Given the description of an element on the screen output the (x, y) to click on. 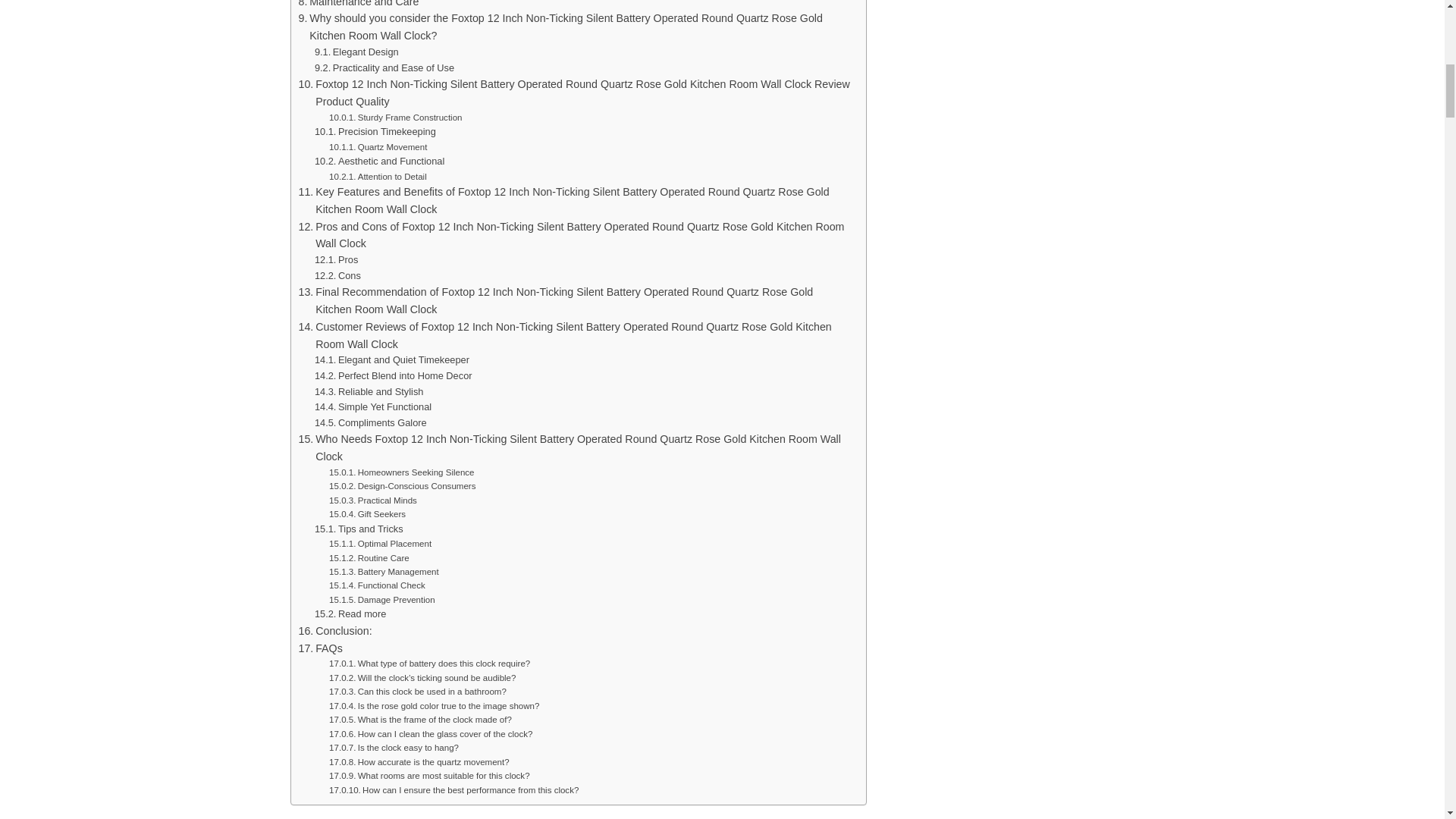
Quartz Movement (377, 146)
Practicality and Ease of Use (384, 68)
Elegant Design (356, 52)
Sturdy Frame Construction (395, 117)
Maintenance and Care (358, 5)
Cons (337, 276)
Pros (336, 260)
